Given the description of an element on the screen output the (x, y) to click on. 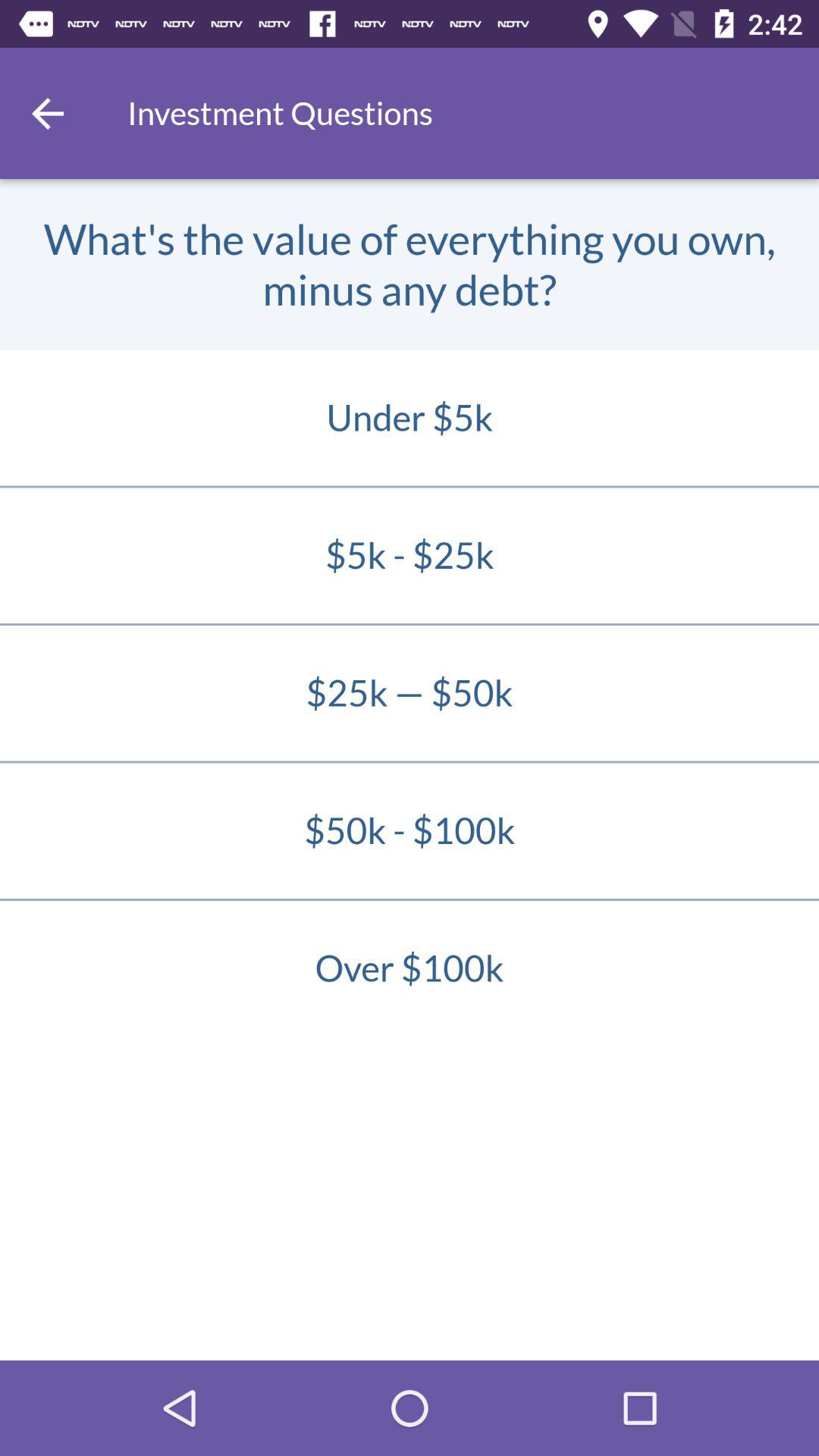
go back (47, 113)
